Given the description of an element on the screen output the (x, y) to click on. 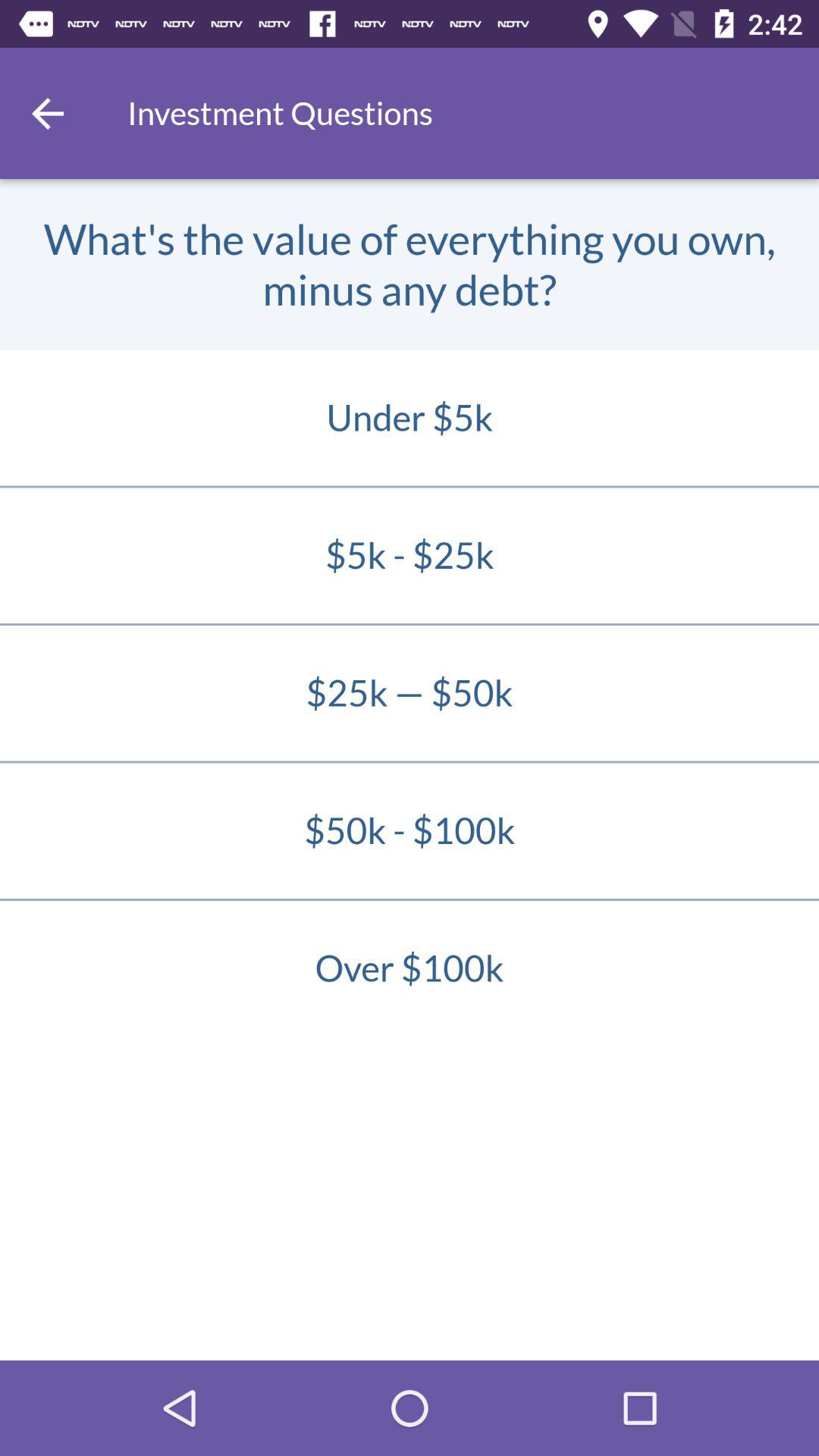
go back (47, 113)
